Given the description of an element on the screen output the (x, y) to click on. 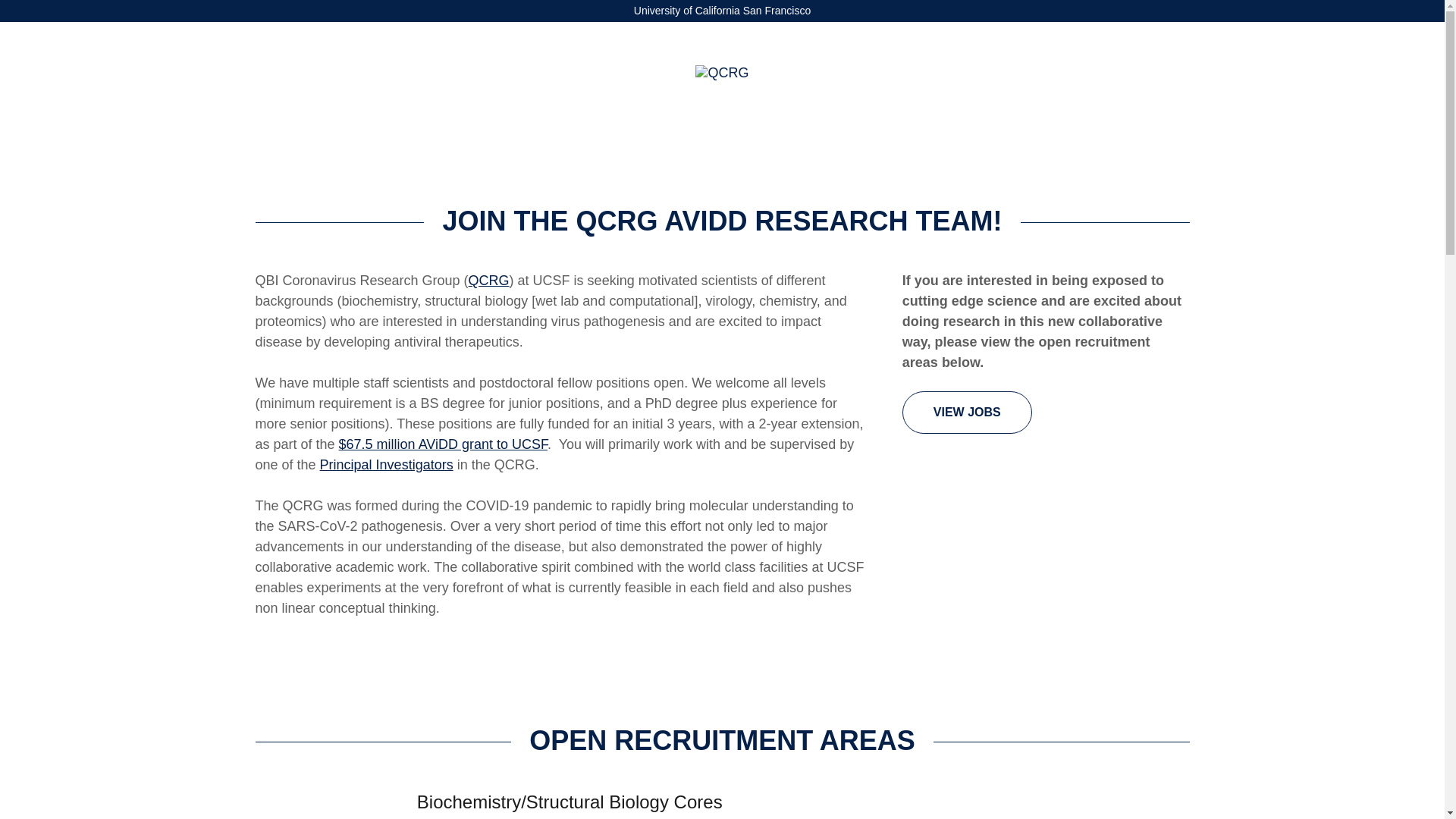
QCRG (721, 71)
